Given the description of an element on the screen output the (x, y) to click on. 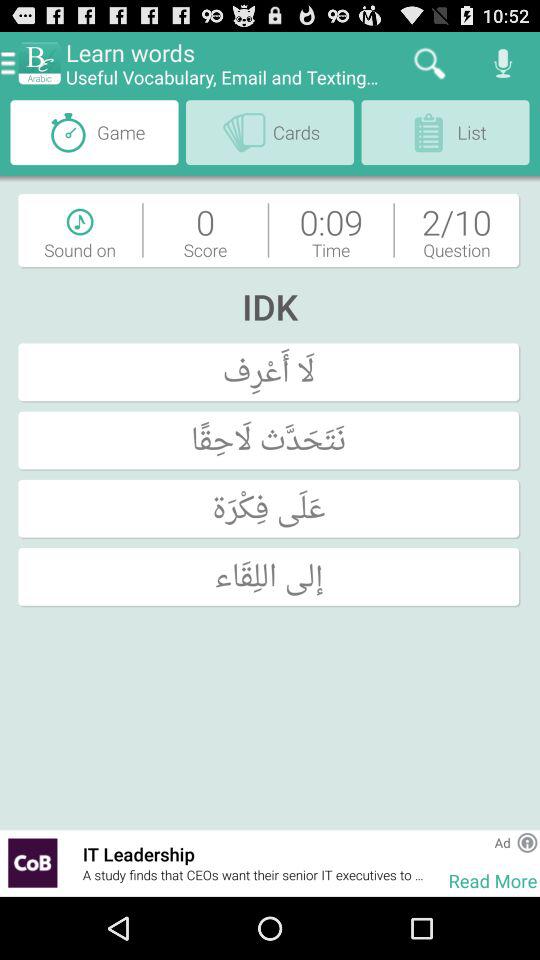
click the ad item (502, 842)
